Given the description of an element on the screen output the (x, y) to click on. 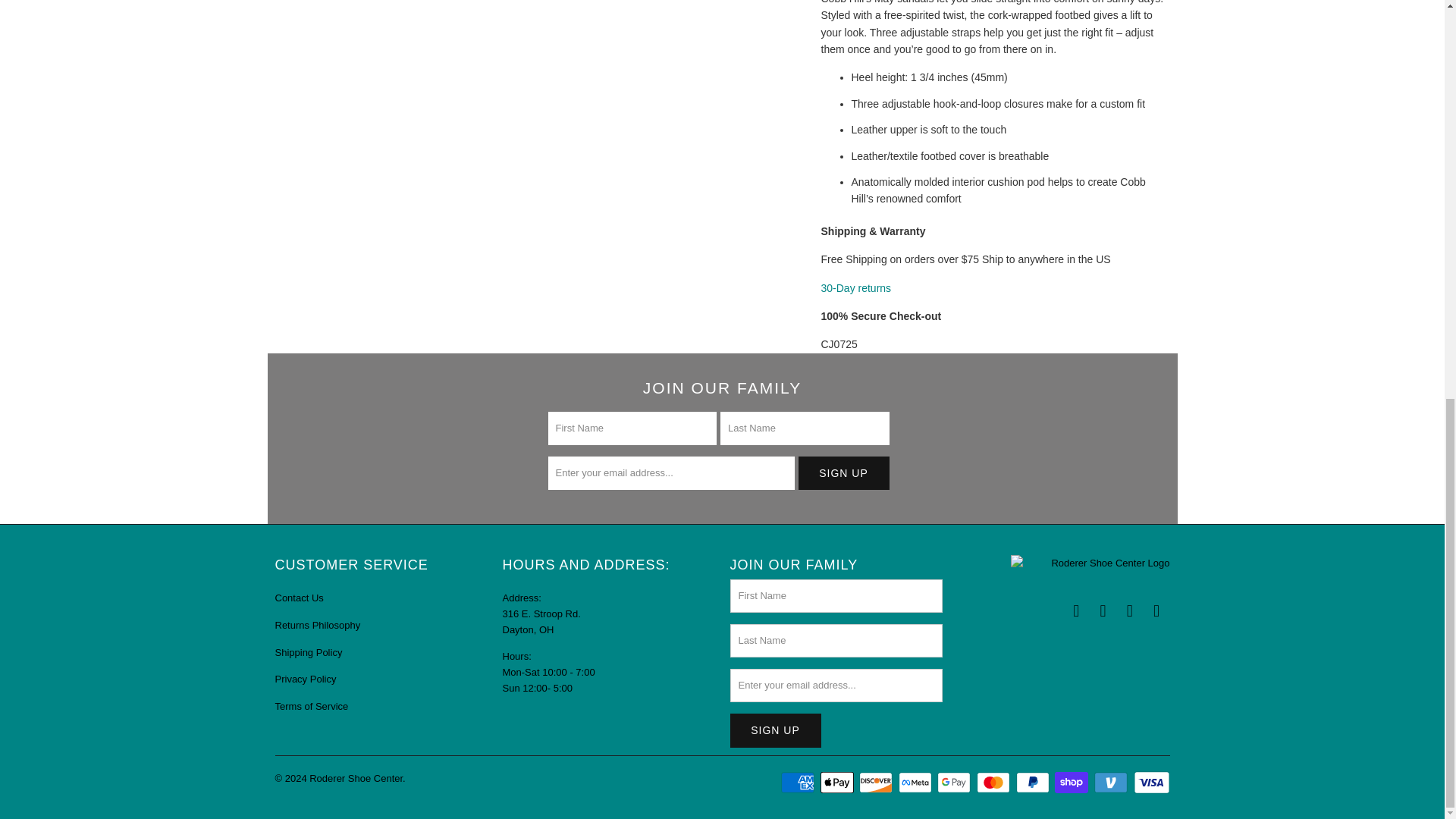
Apple Pay (839, 782)
Discover (877, 782)
Sign Up (842, 472)
PayPal (1034, 782)
Venmo (1112, 782)
Sign Up (775, 730)
Google Pay (955, 782)
Mastercard (994, 782)
Visa (1150, 782)
American Express (798, 782)
